Given the description of an element on the screen output the (x, y) to click on. 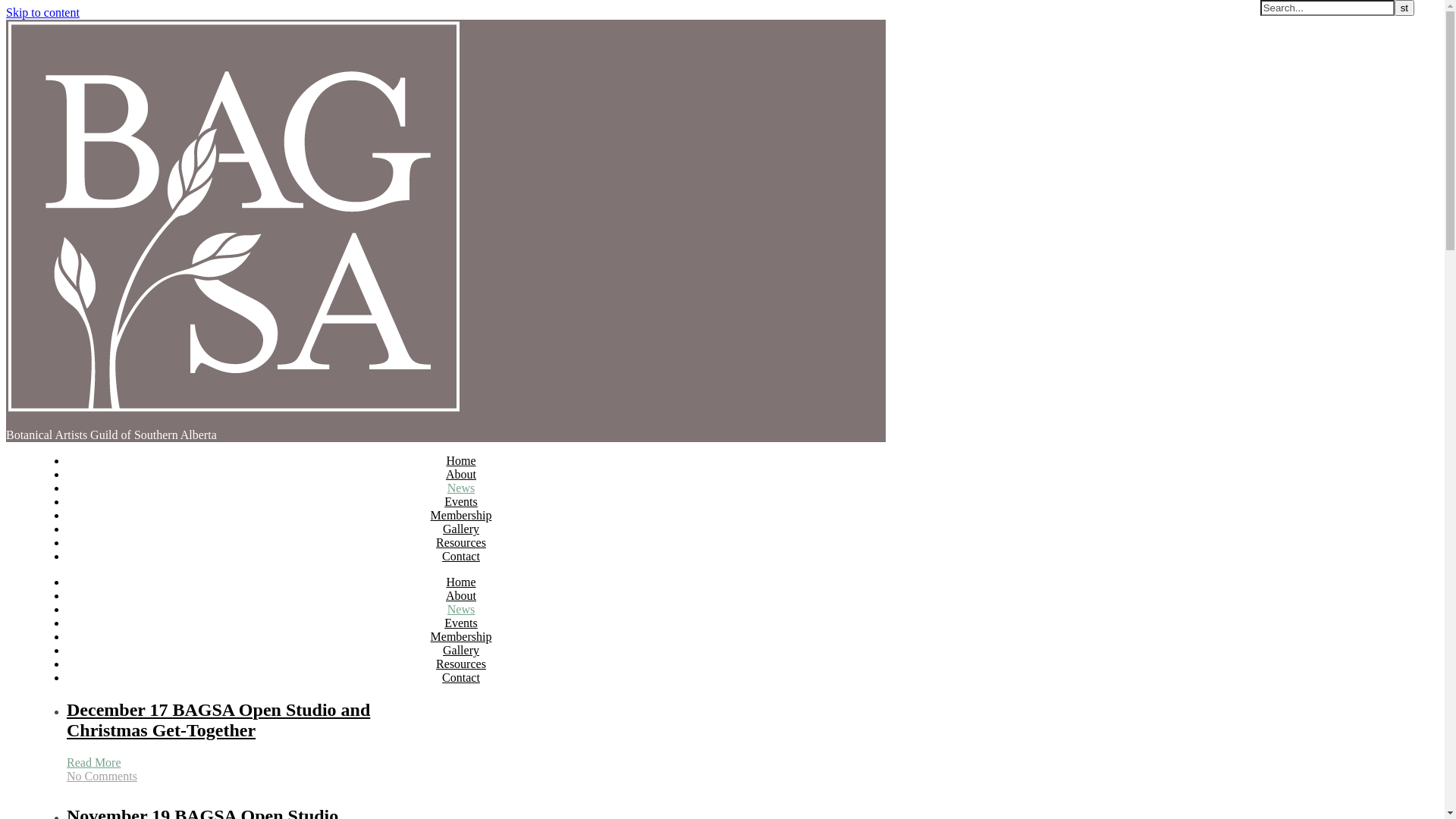
News Element type: text (460, 608)
No Comments Element type: text (101, 775)
Events Element type: text (460, 501)
BAGSA Element type: hover (233, 408)
Home Element type: text (460, 460)
About Element type: text (460, 595)
st Element type: text (1404, 7)
Contact Element type: text (461, 555)
Resources Element type: text (461, 663)
Home Element type: text (460, 581)
Read More Element type: text (93, 762)
Events Element type: text (460, 622)
Contact Element type: text (461, 677)
Resources Element type: text (461, 542)
December 17 BAGSA Open Studio and Christmas Get-Together Element type: text (218, 719)
About Element type: text (460, 473)
Membership Element type: text (461, 636)
Gallery Element type: text (460, 649)
Skip to content Element type: text (42, 12)
News Element type: text (460, 487)
Membership Element type: text (461, 514)
Gallery Element type: text (460, 528)
